Given the description of an element on the screen output the (x, y) to click on. 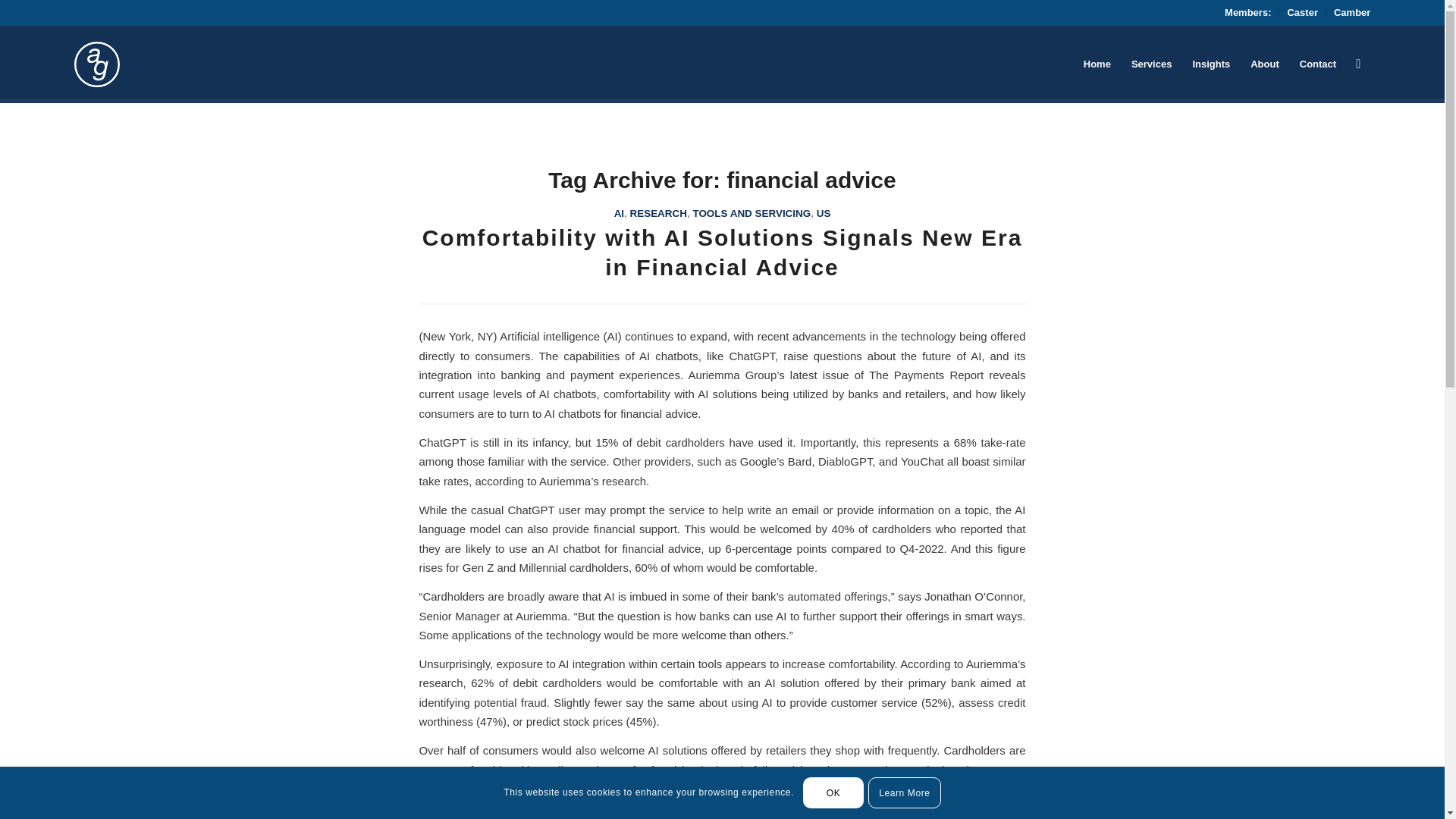
Members: (1247, 12)
US (823, 213)
Learn More (903, 792)
OK (833, 792)
Caster (1302, 12)
Camber (1351, 12)
TOOLS AND SERVICING (751, 213)
RESEARCH (658, 213)
